Given the description of an element on the screen output the (x, y) to click on. 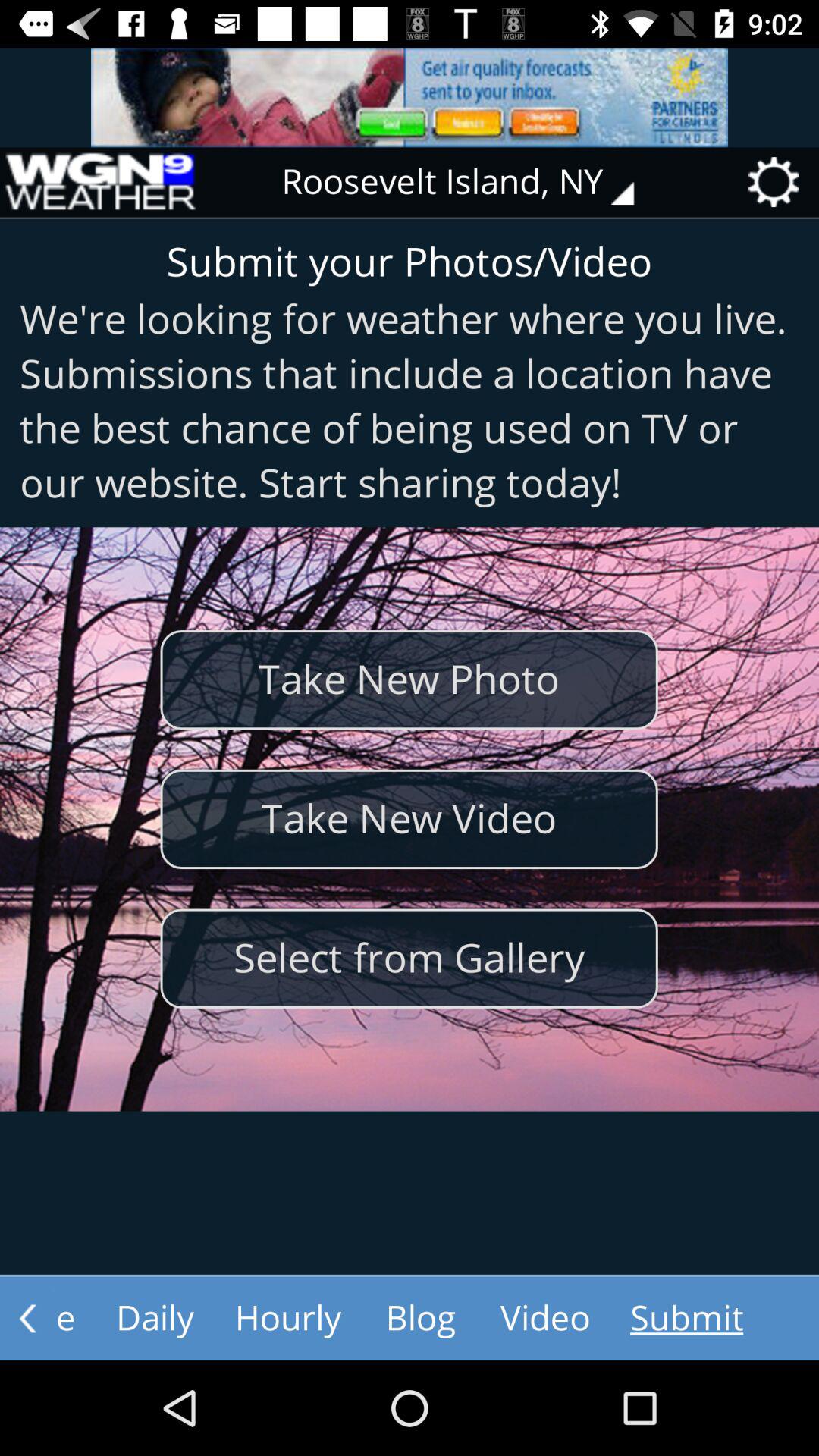
select the item to the left of roosevelt island, ny icon (99, 182)
